Given the description of an element on the screen output the (x, y) to click on. 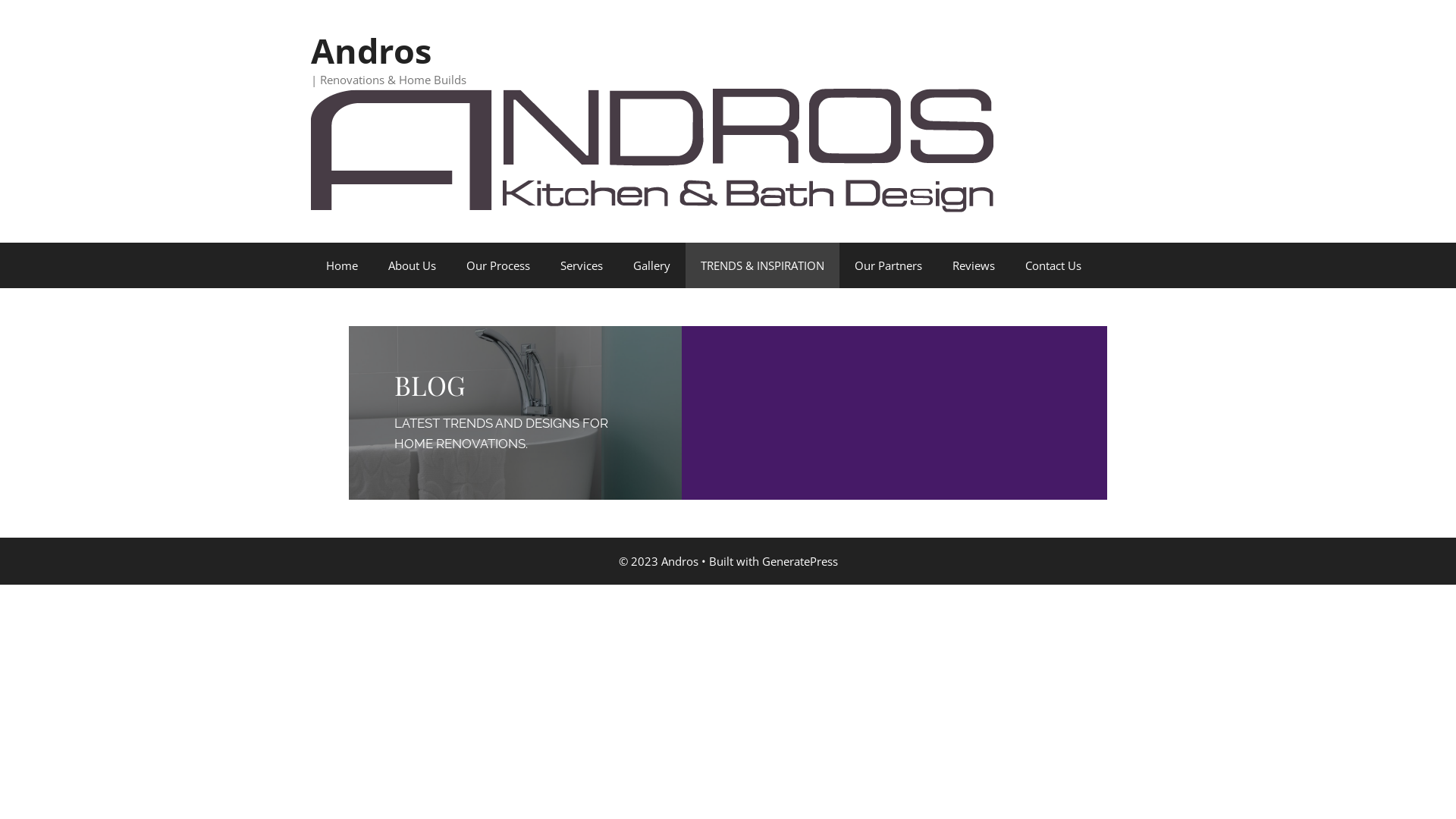
GeneratePress Element type: text (799, 560)
About Us Element type: text (412, 265)
Gallery Element type: text (651, 265)
Home Element type: text (341, 265)
TRENDS & INSPIRATION Element type: text (762, 265)
Our Partners Element type: text (888, 265)
Andros Element type: text (370, 50)
Services Element type: text (581, 265)
Reviews Element type: text (973, 265)
Contact Us Element type: text (1053, 265)
Our Process Element type: text (498, 265)
